Given the description of an element on the screen output the (x, y) to click on. 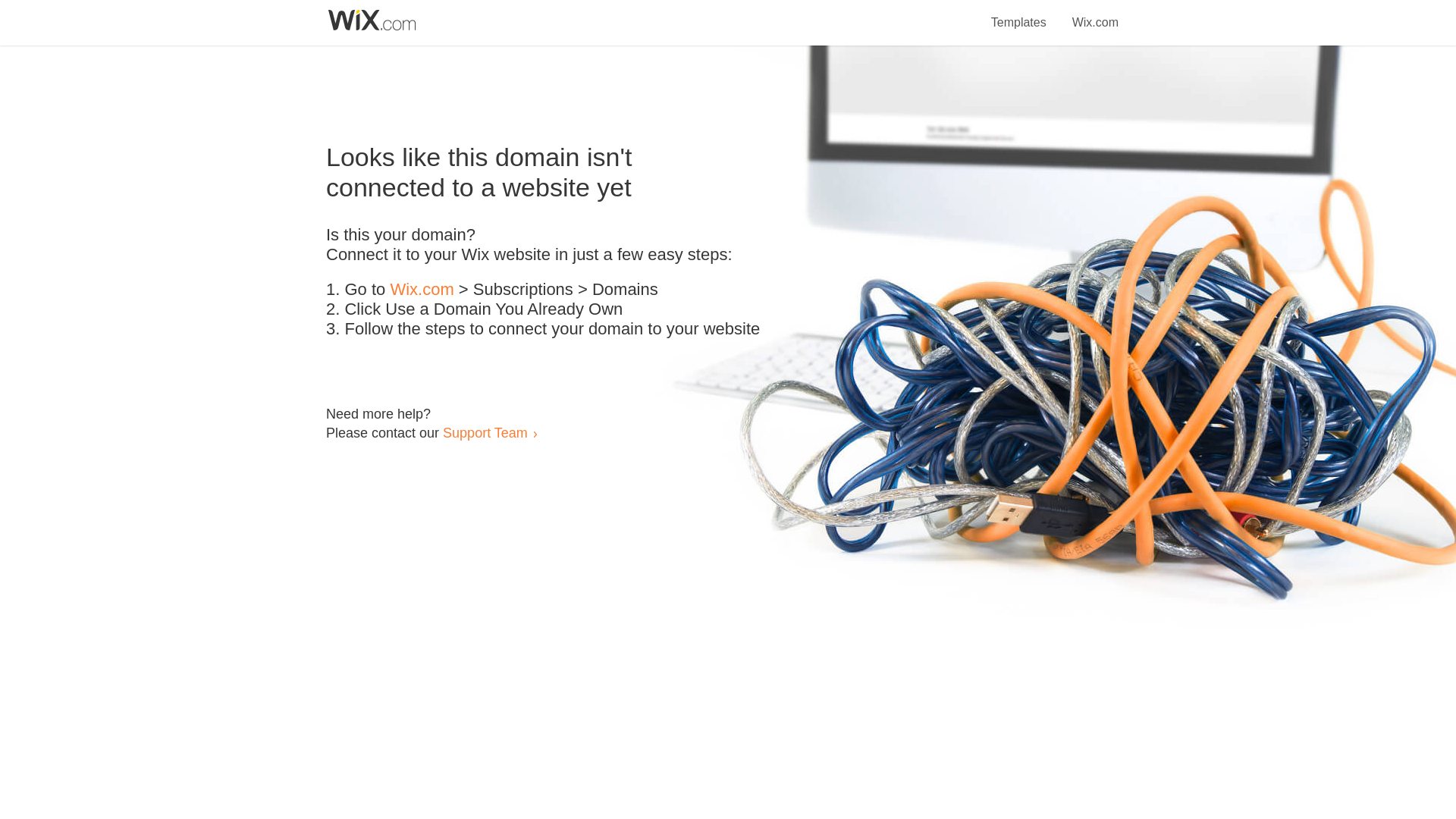
Wix.com (421, 289)
Wix.com (1095, 14)
Templates (1018, 14)
Support Team (484, 432)
